Given the description of an element on the screen output the (x, y) to click on. 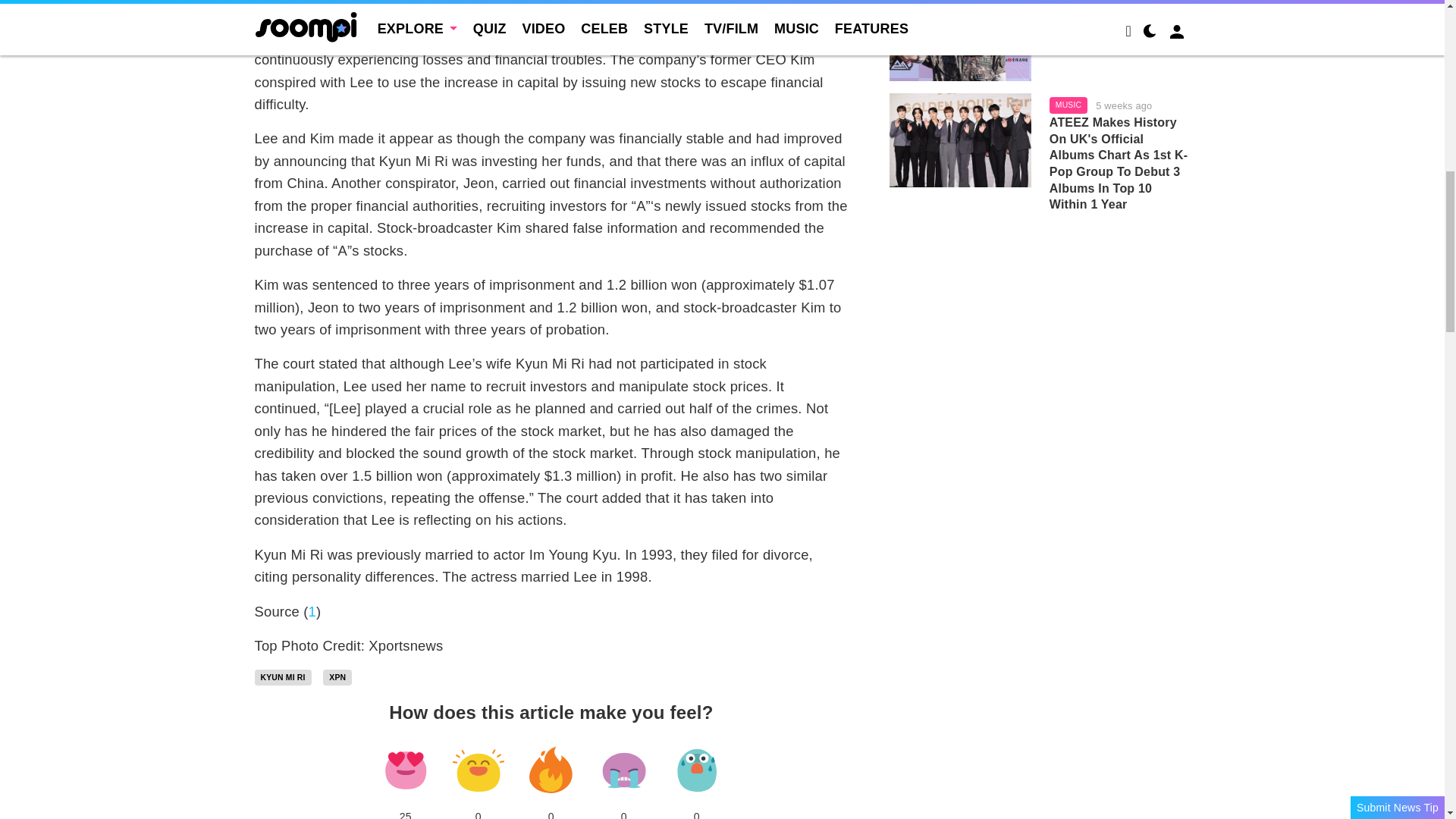
KYUN MI RI (282, 677)
omg (696, 770)
OMG (696, 770)
heart (405, 770)
cry (623, 770)
lol (478, 770)
fire (550, 770)
Fire (550, 770)
XPN (337, 677)
Kyun Mi Ri (282, 677)
Crying (623, 770)
Heart (405, 770)
1 (311, 611)
LOL (478, 770)
XPN (337, 677)
